Given the description of an element on the screen output the (x, y) to click on. 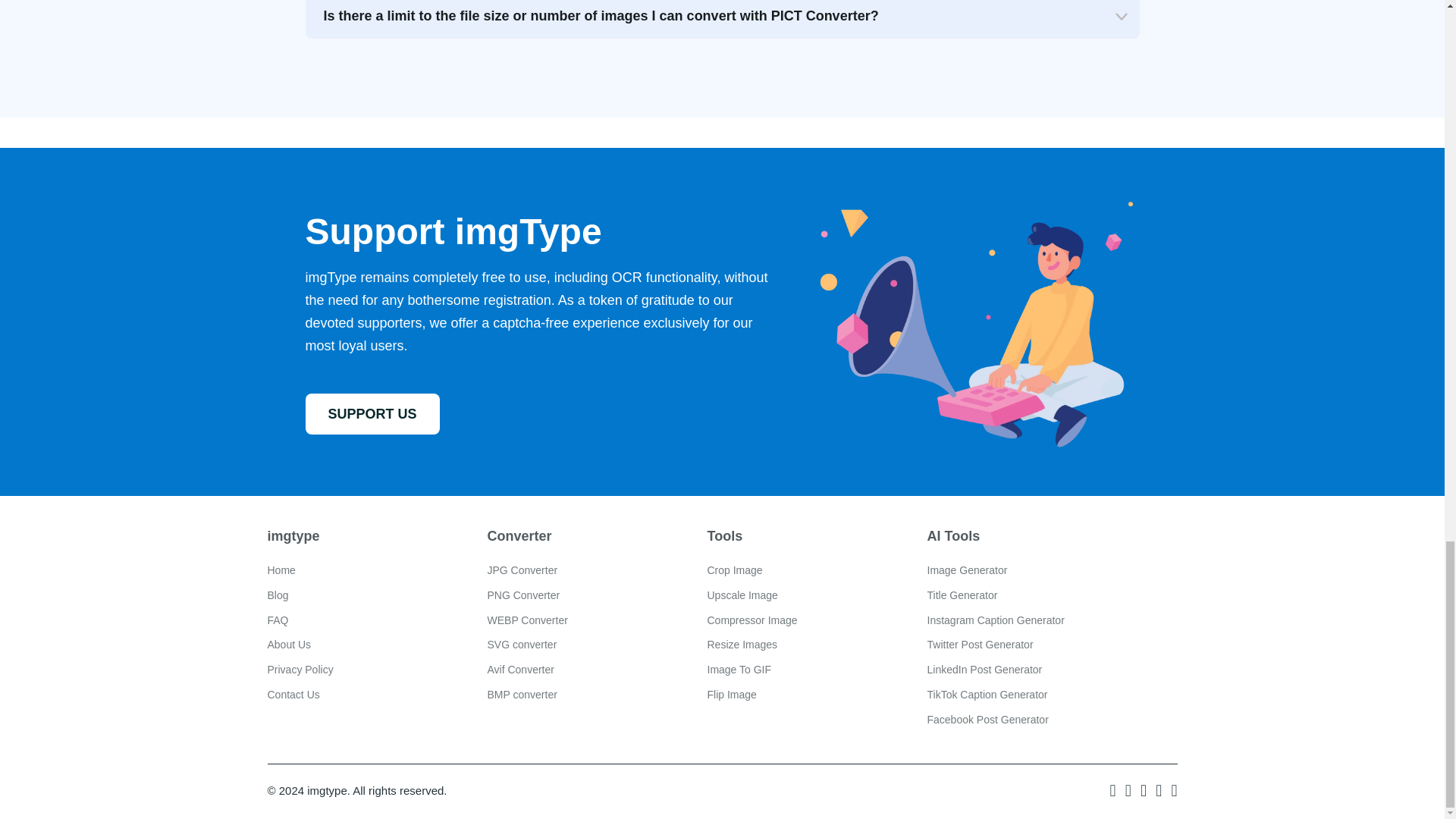
hero (972, 321)
